Given the description of an element on the screen output the (x, y) to click on. 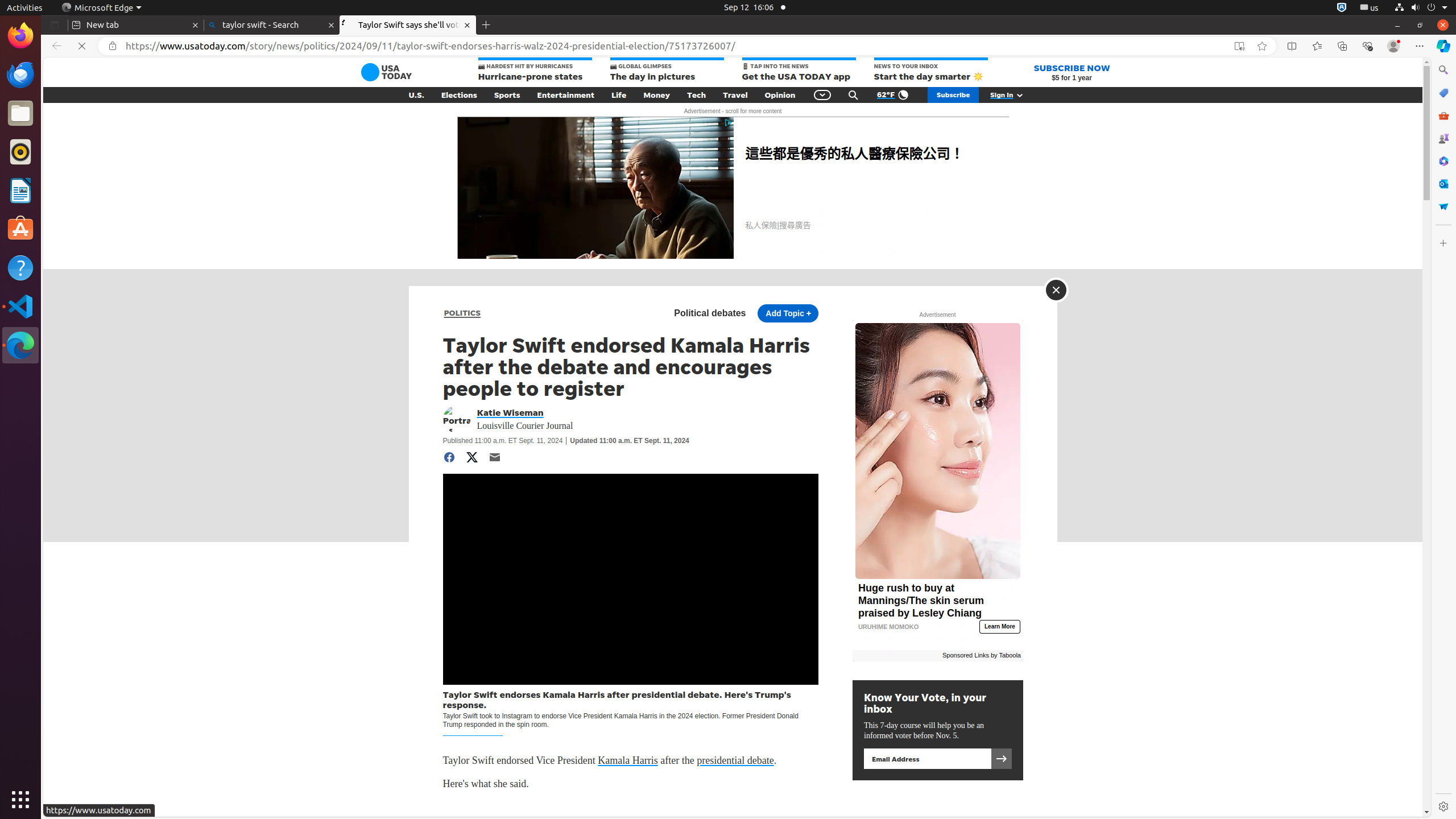
Play video Element type: push-button (630, 579)
Microsoft Edge Element type: menu (101, 7)
U.S. Element type: link (415, 94)
USA TODAY Element type: link (386, 72)
Opinion Element type: link (779, 94)
